Given the description of an element on the screen output the (x, y) to click on. 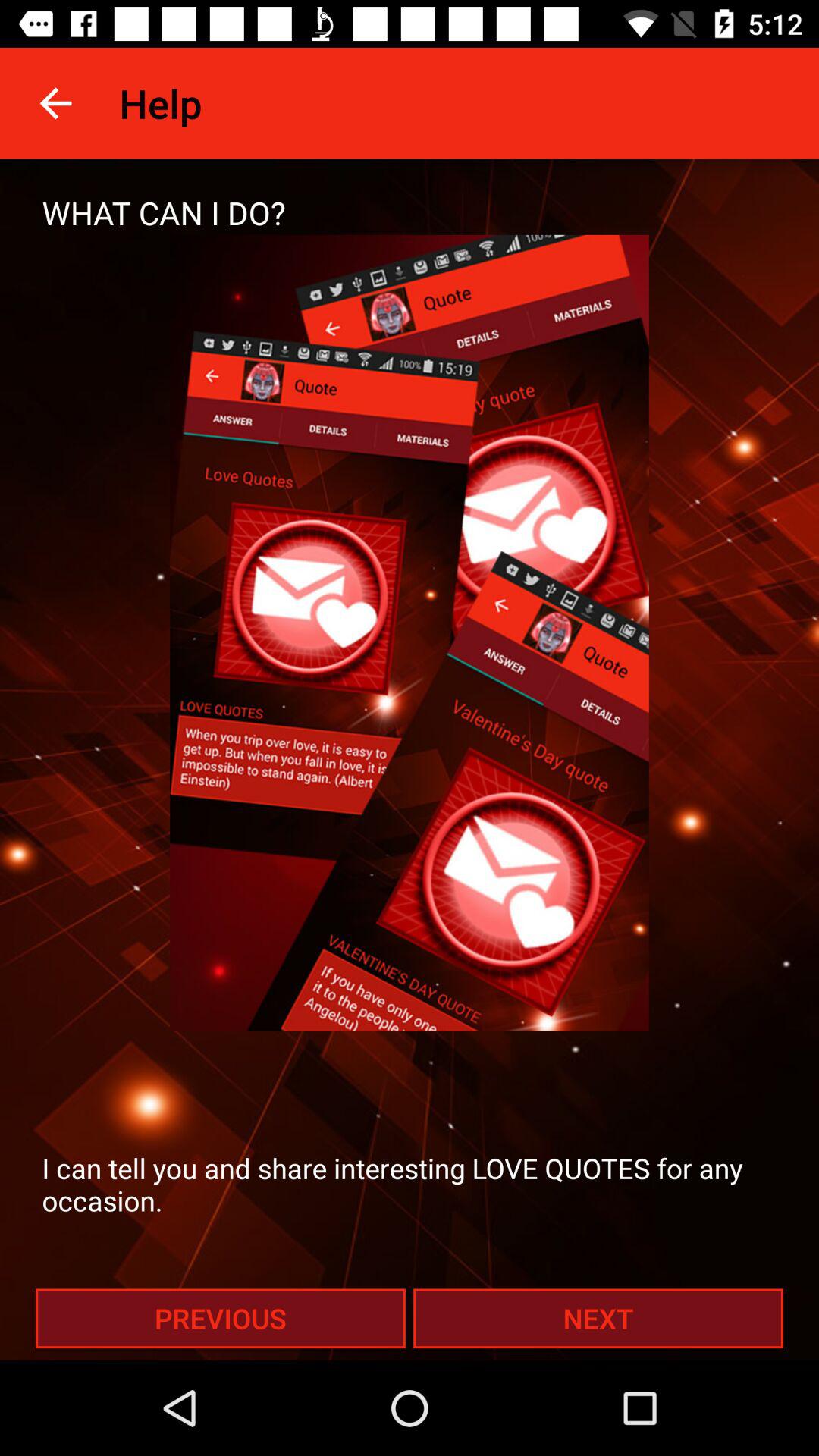
choose next icon (598, 1318)
